Given the description of an element on the screen output the (x, y) to click on. 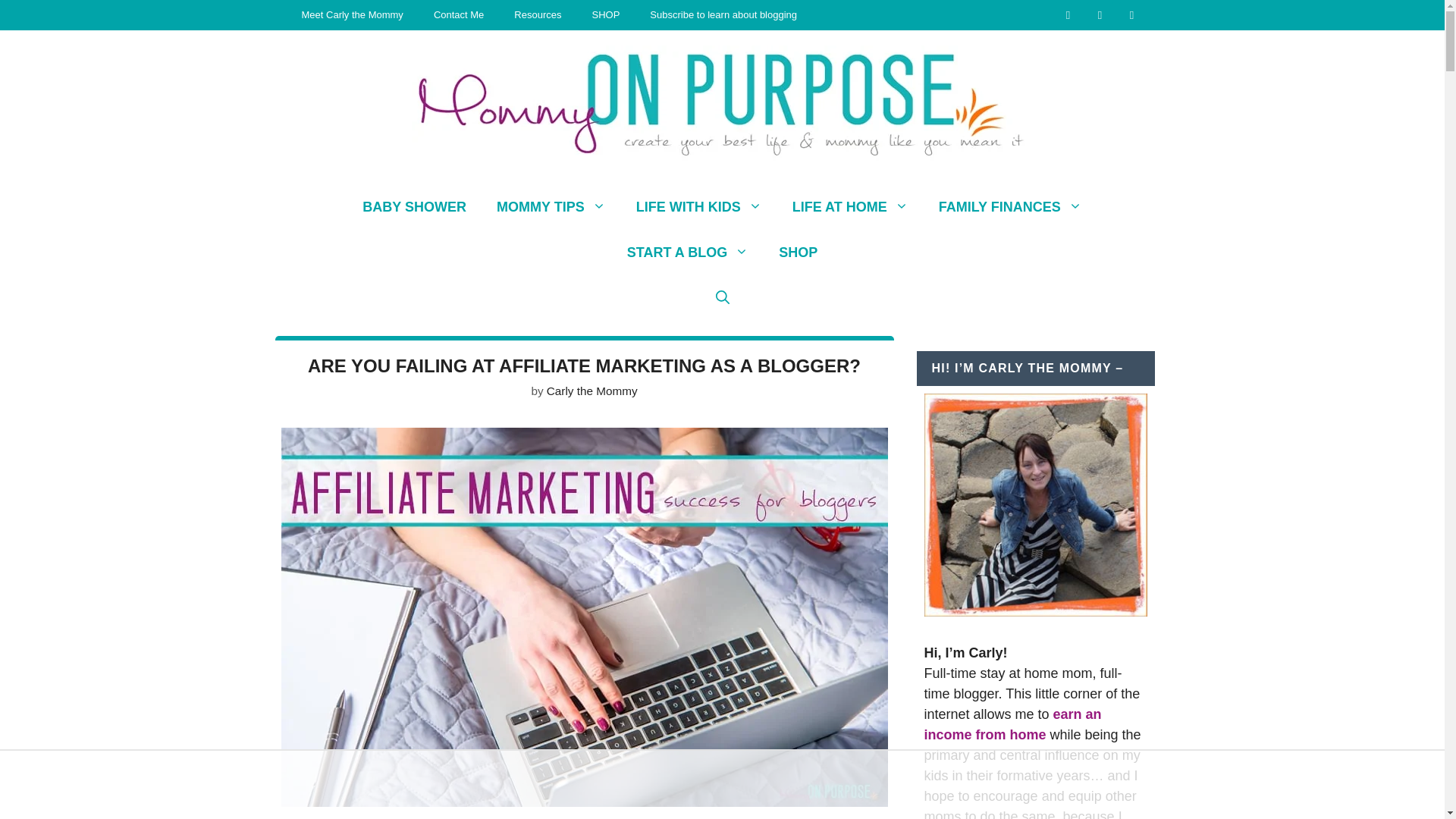
Facebook (1100, 13)
Pinterest (1131, 13)
SHOP (605, 15)
View all posts by Carly the Mommy (592, 390)
Meet Carly the Mommy (352, 15)
Contact (1068, 13)
Contact Me (459, 15)
Subscribe to learn about blogging (723, 15)
Resources (537, 15)
